Given the description of an element on the screen output the (x, y) to click on. 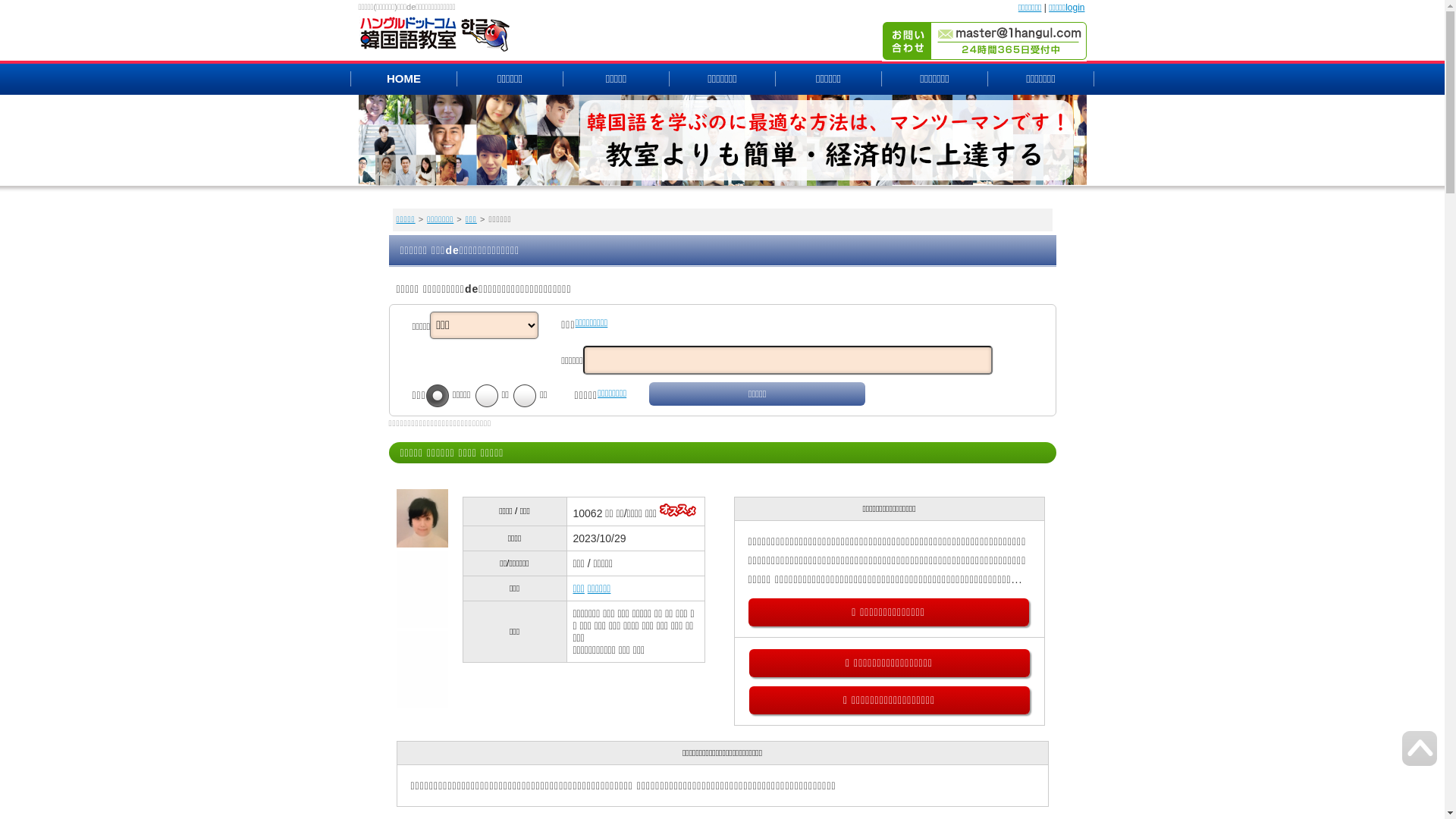
HOME Element type: text (403, 77)
